Given the description of an element on the screen output the (x, y) to click on. 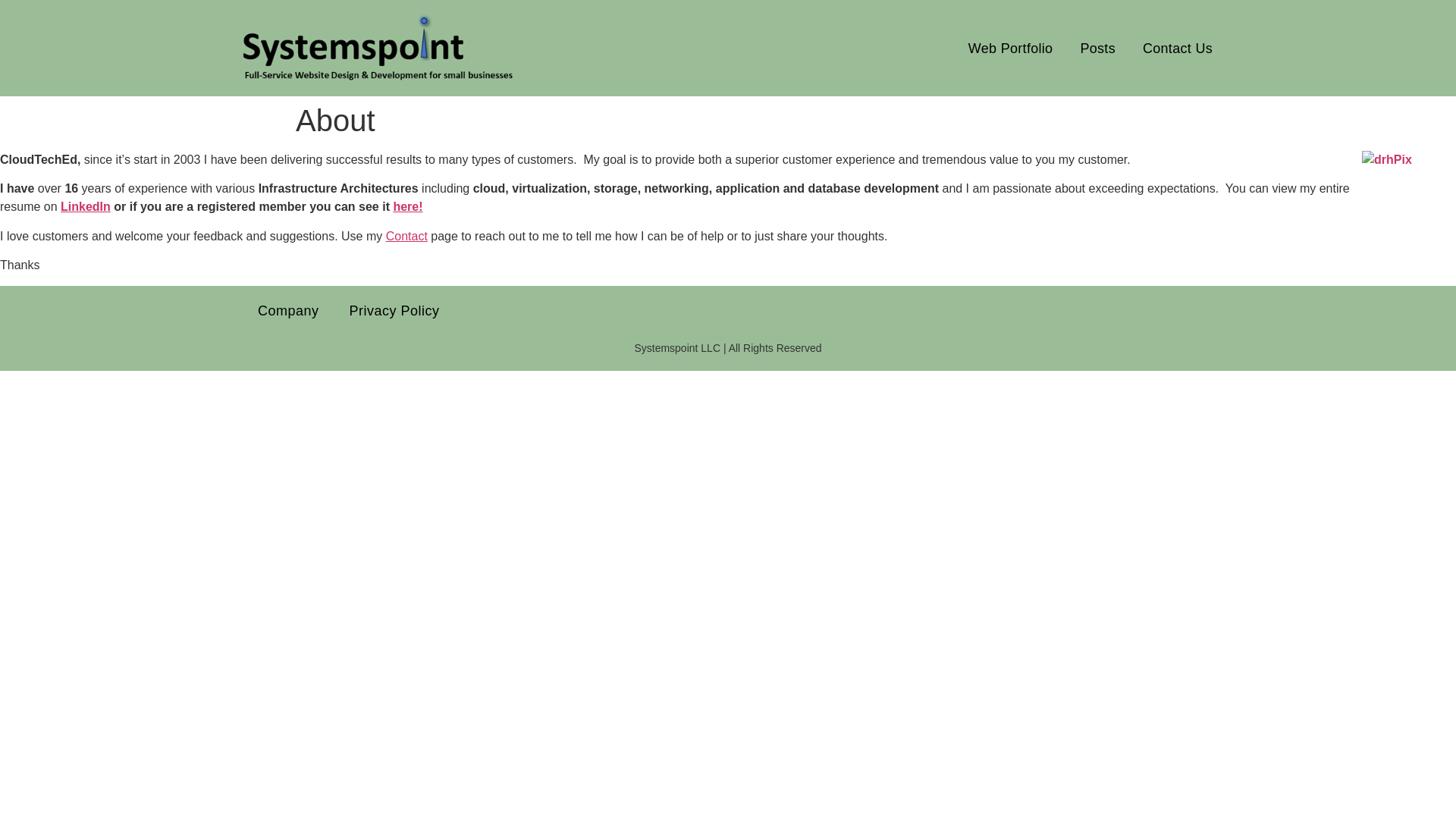
Web Portfolio (1010, 47)
Privacy Policy (394, 310)
Posts (1097, 47)
Contact (406, 236)
Company (288, 310)
Contact Us (1177, 47)
here! (407, 205)
Contact Us (406, 236)
LinkedIn (85, 205)
